Given the description of an element on the screen output the (x, y) to click on. 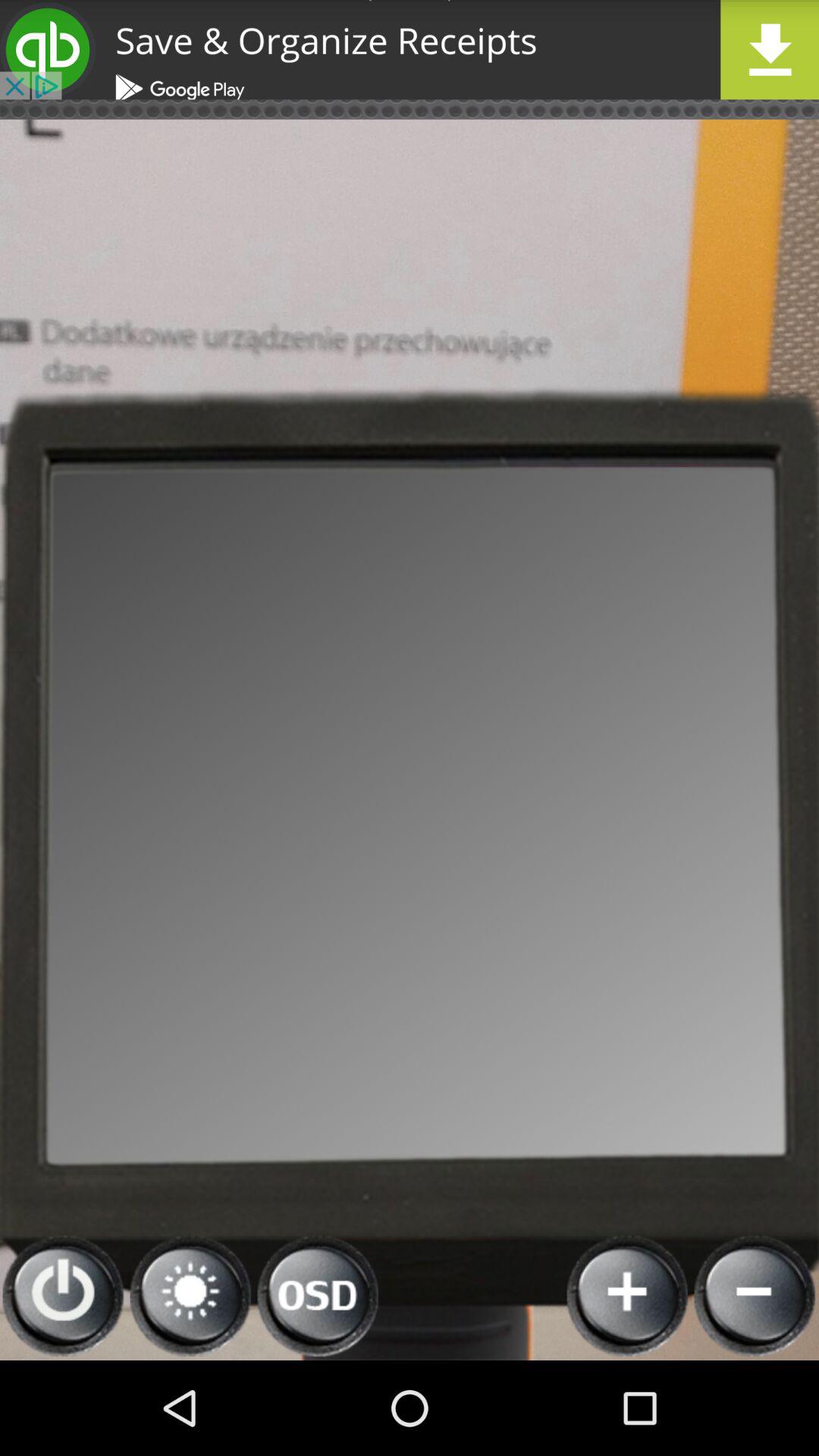
click advertisement (409, 49)
